Given the description of an element on the screen output the (x, y) to click on. 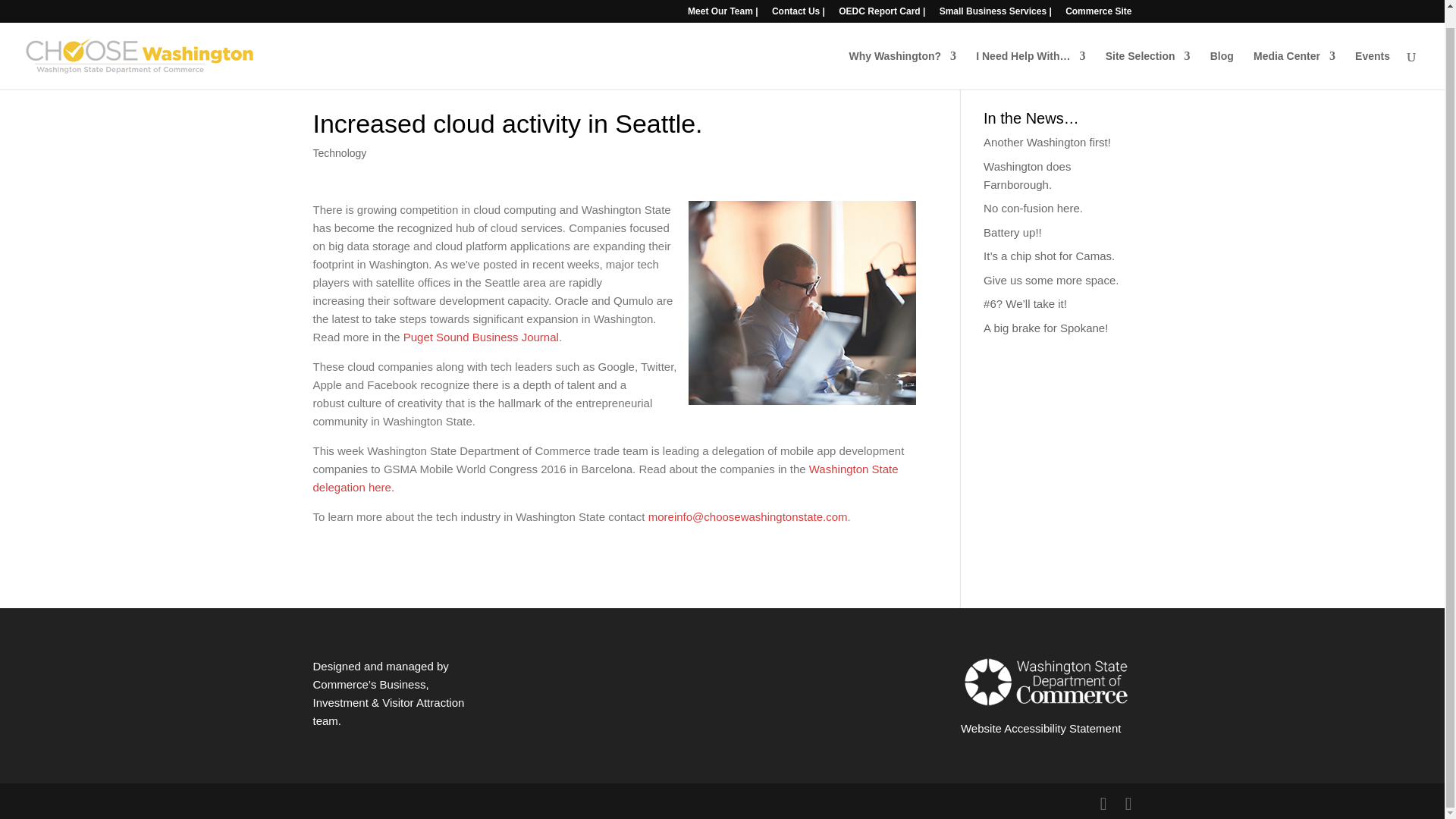
Commerce Site (1098, 2)
Why Washington? (902, 52)
